Given the description of an element on the screen output the (x, y) to click on. 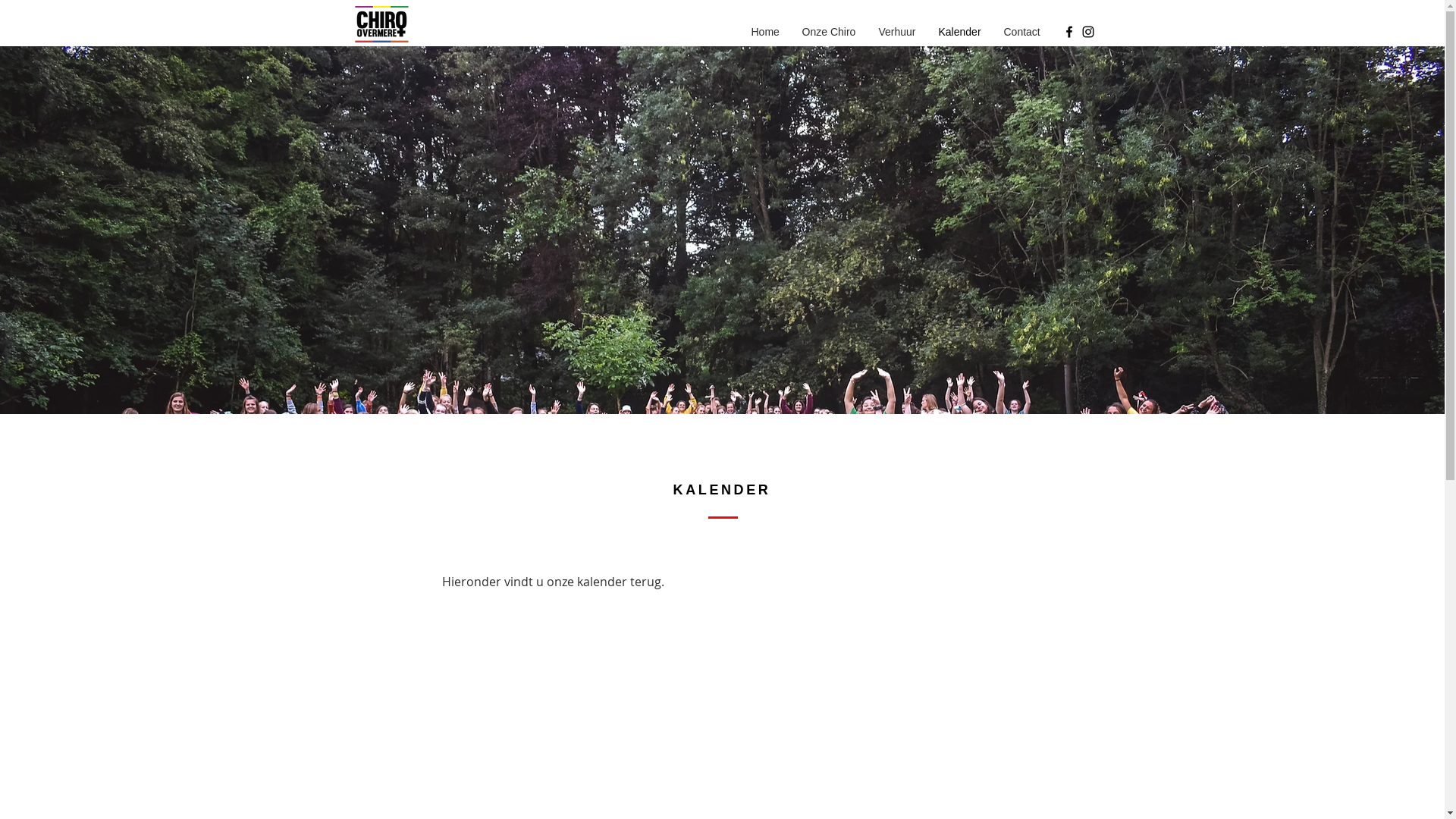
Kalender Element type: text (958, 31)
Verhuur Element type: text (897, 31)
Contact Element type: text (1021, 31)
Onze Chiro Element type: text (828, 31)
Home Element type: text (765, 31)
